Given the description of an element on the screen output the (x, y) to click on. 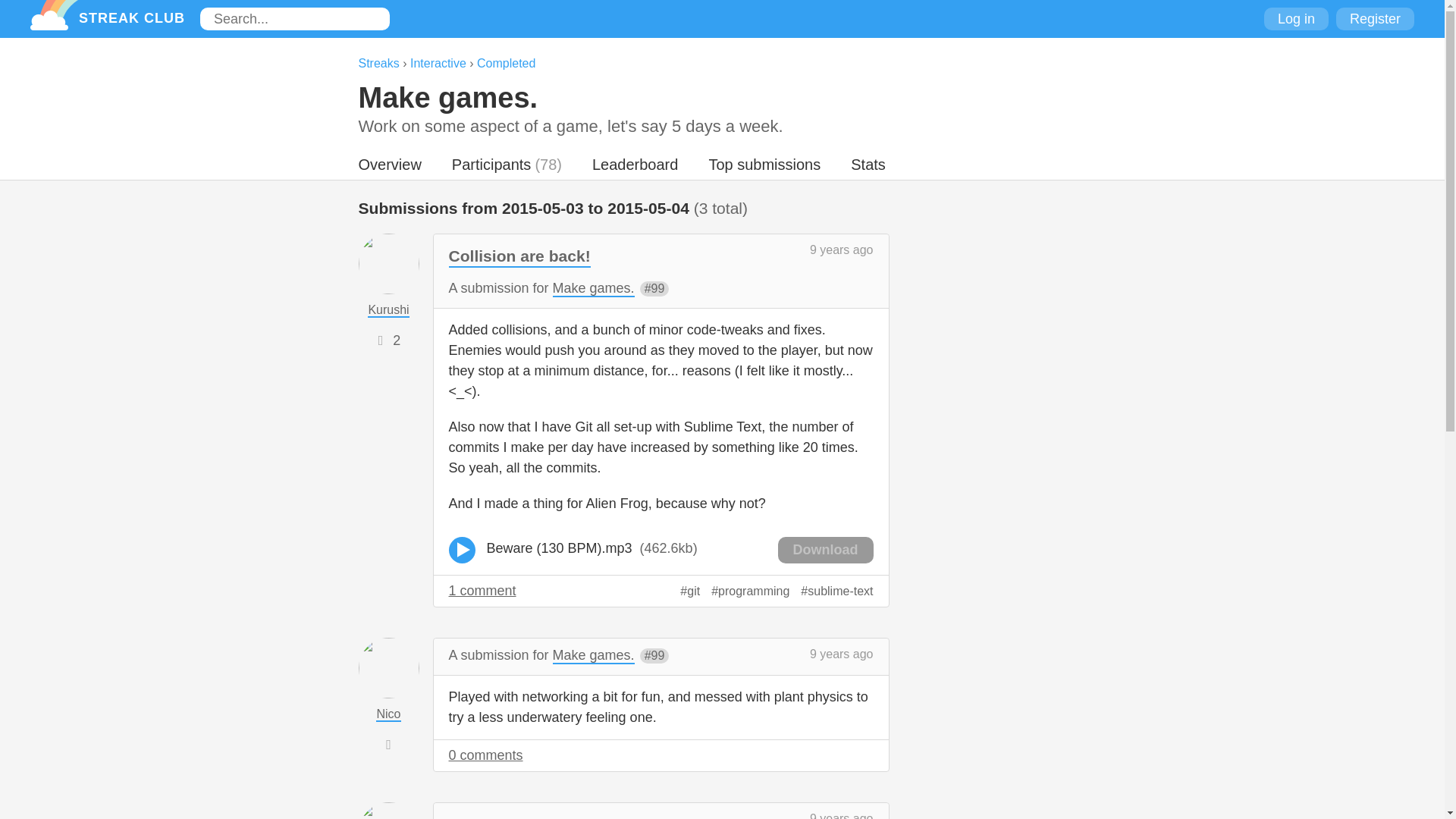
Participants (491, 168)
9 years ago (841, 653)
Leaderboard (635, 168)
Make games. (593, 288)
Streaks (378, 62)
Log in (1295, 18)
Overview (389, 168)
Download (825, 550)
Register (1374, 18)
2 (396, 340)
